Given the description of an element on the screen output the (x, y) to click on. 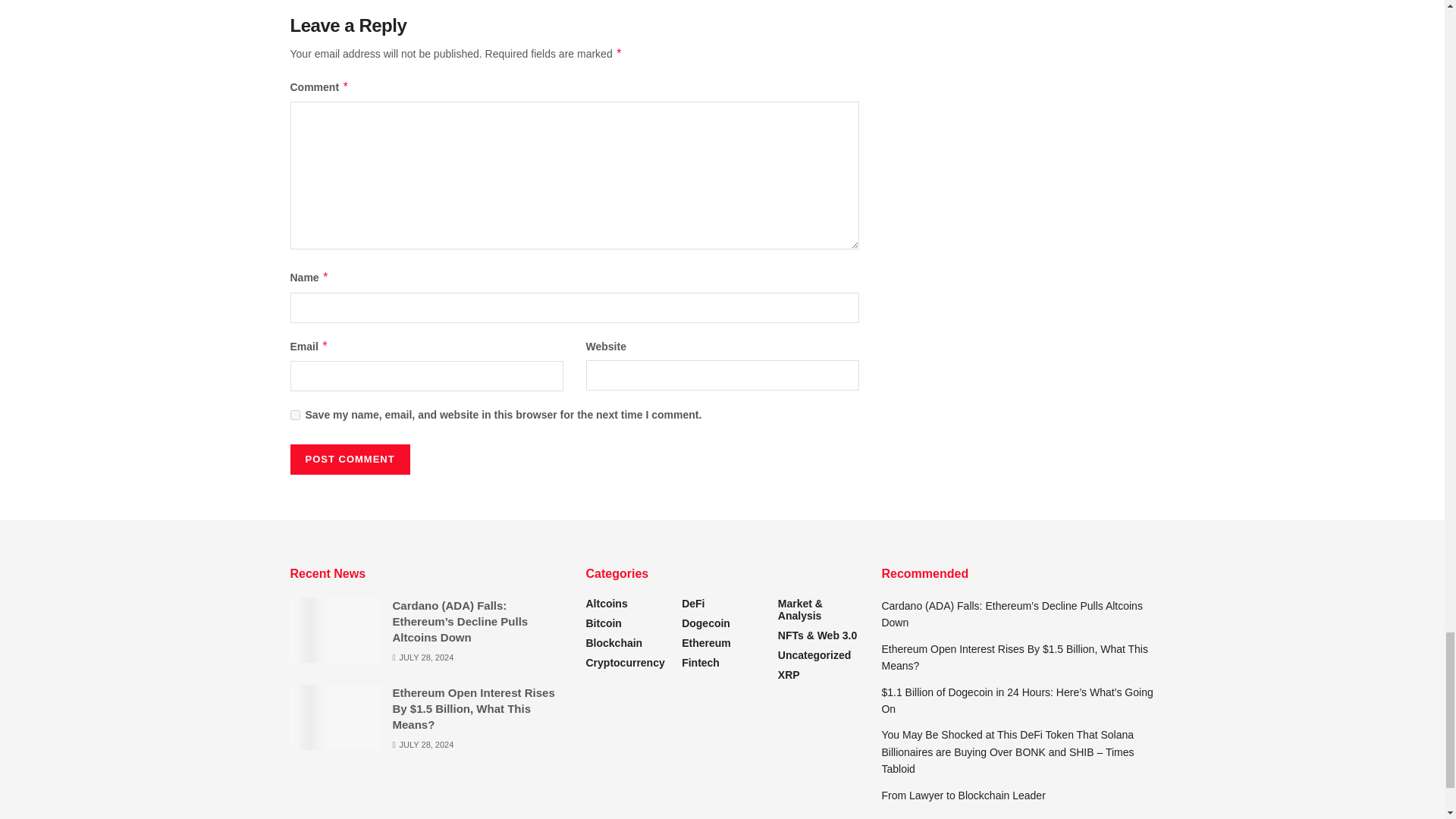
Post Comment (349, 459)
yes (294, 415)
